Given the description of an element on the screen output the (x, y) to click on. 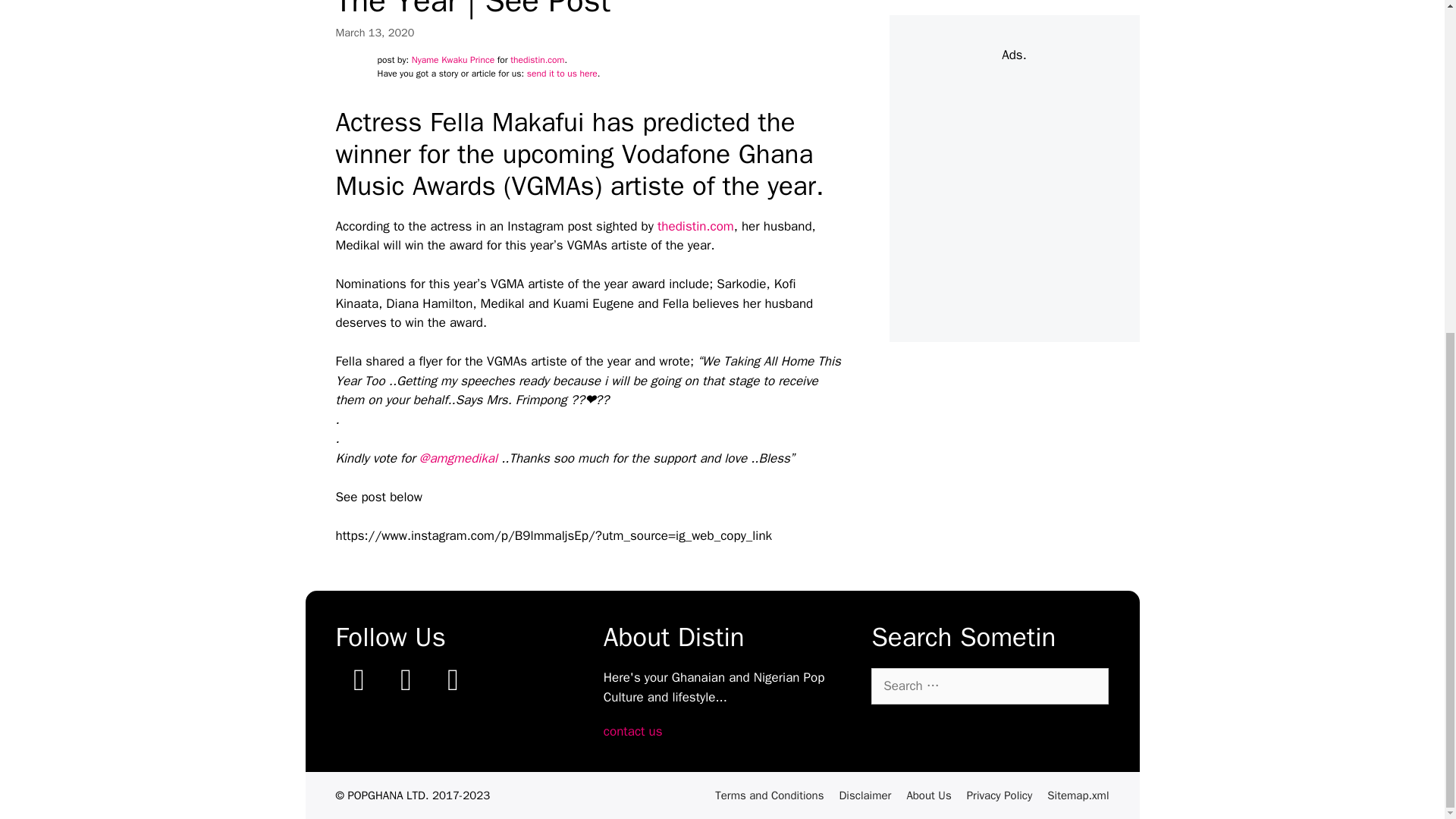
Disclaimer (864, 795)
send it to us here (561, 73)
thedistin.com (537, 60)
thedistin.com (695, 226)
Privacy Policy (999, 795)
Search for: (989, 686)
Sitemap.xml (1077, 795)
Nyame Kwaku Prince (453, 60)
contact us (633, 731)
Terms and Conditions (769, 795)
About Us (927, 795)
